Given the description of an element on the screen output the (x, y) to click on. 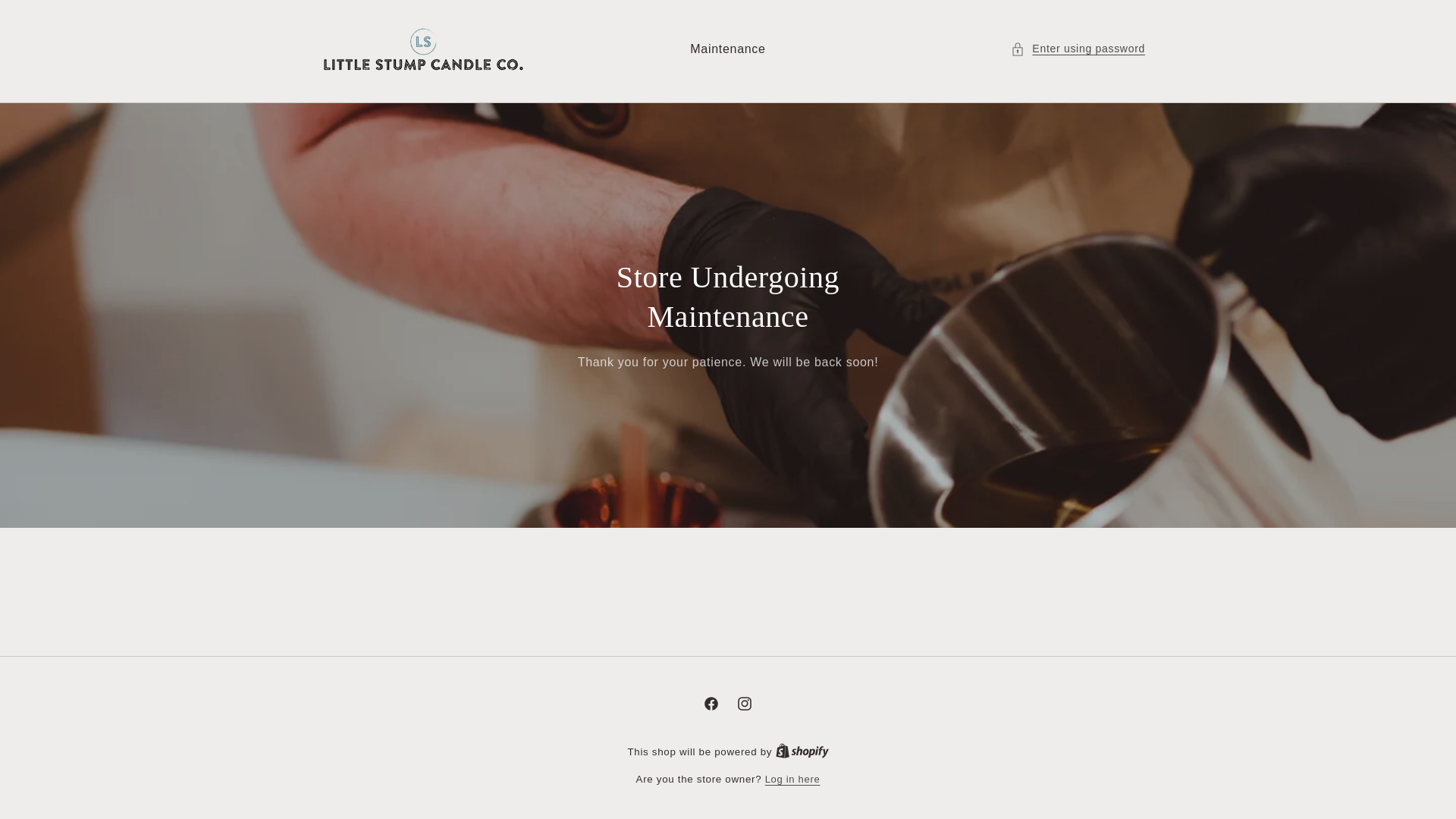
Log in here (793, 779)
Skip to content (45, 17)
Facebook (711, 703)
Instagram (744, 703)
